Given the description of an element on the screen output the (x, y) to click on. 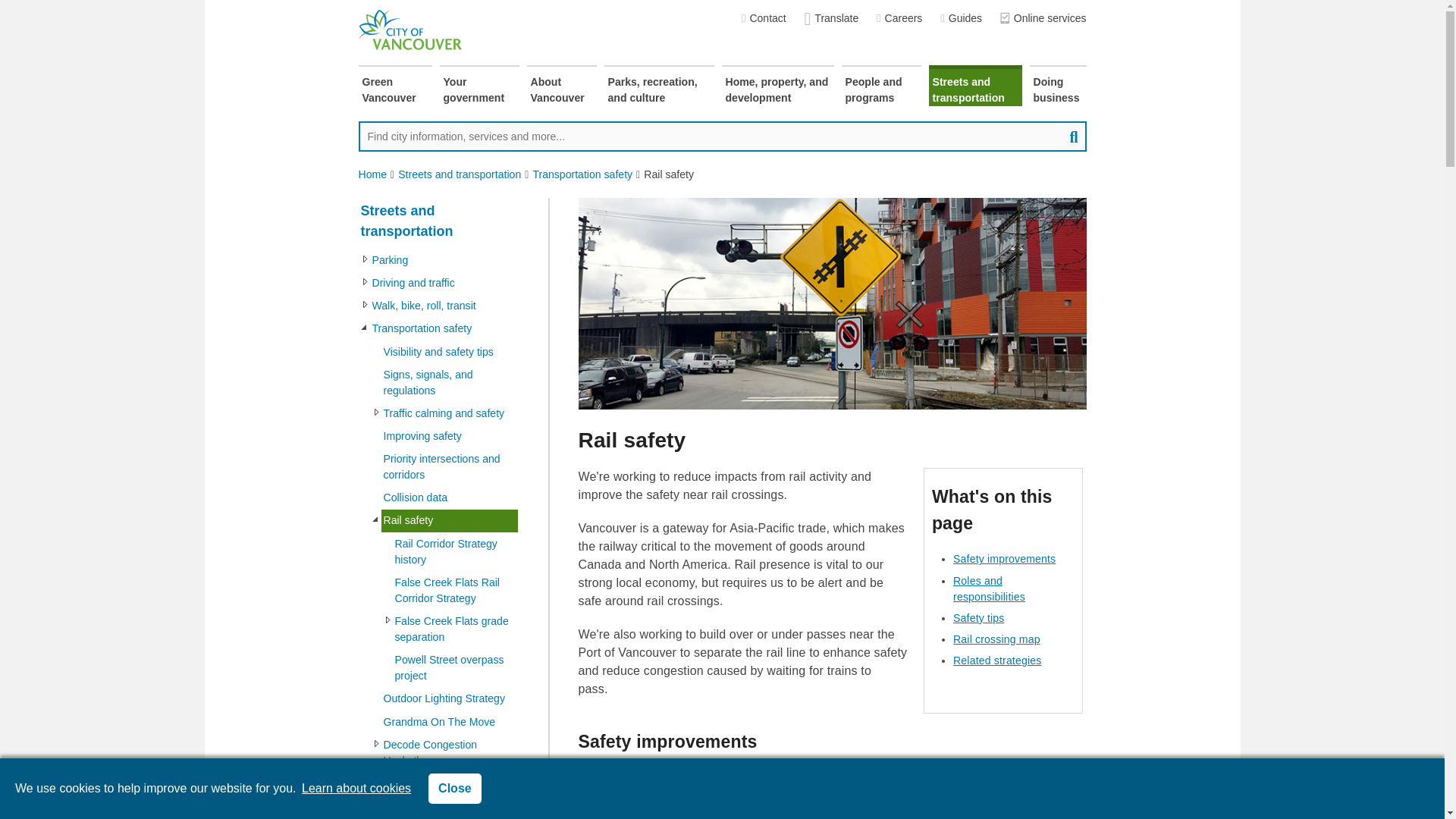
Your government (479, 85)
Guides (960, 18)
Close (454, 788)
Railway crossing (832, 303)
Online services (1043, 18)
Doing business (1057, 85)
People and programs (881, 85)
Learn about cookies (356, 787)
Contact (763, 18)
Translate (832, 18)
Green Vancouver (394, 85)
Streets and transportation (975, 85)
Home (372, 174)
Home, property, and development (778, 85)
Careers (898, 18)
